Given the description of an element on the screen output the (x, y) to click on. 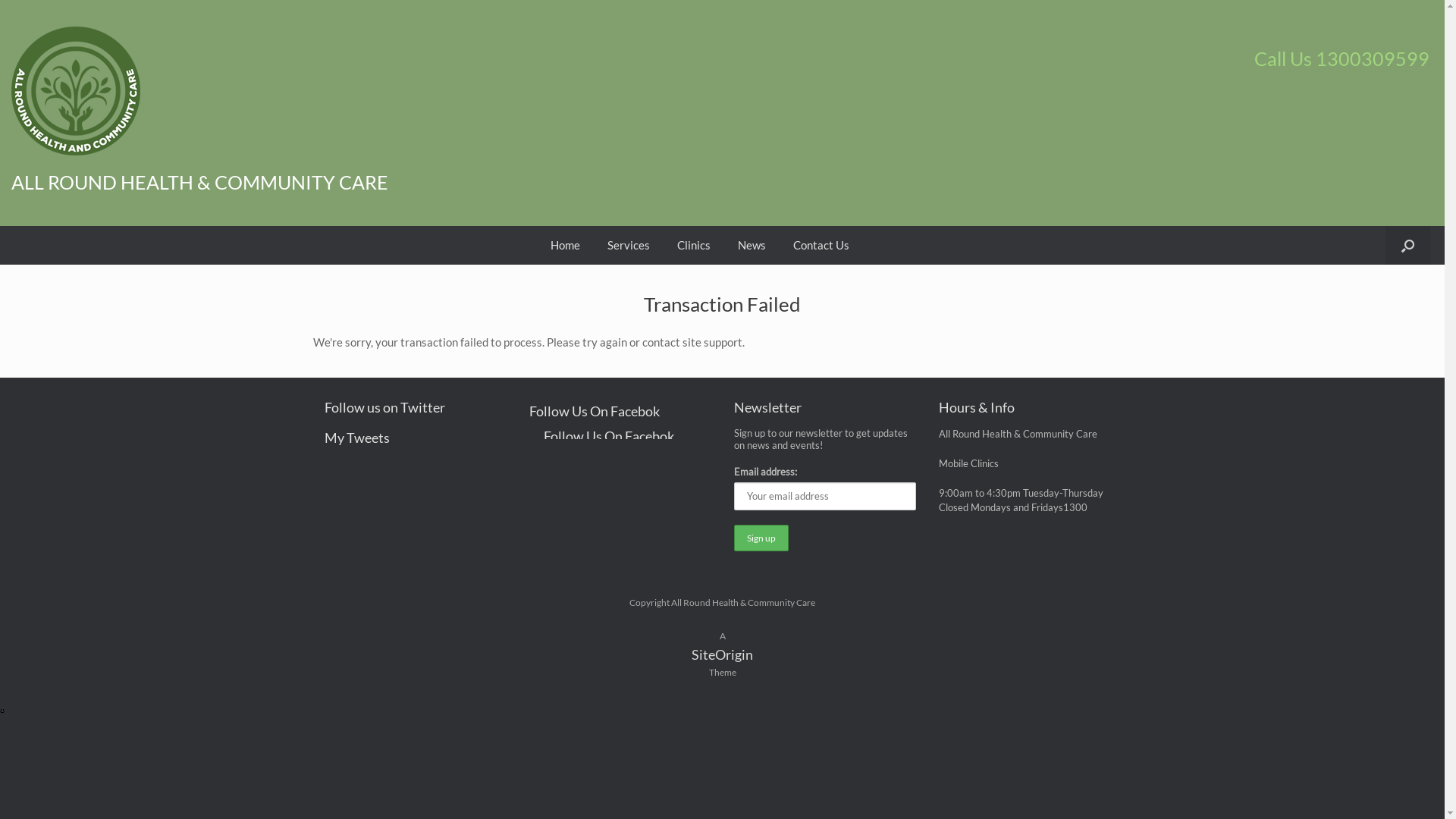
Follow Us On Facebok Element type: text (620, 410)
Services Element type: text (628, 244)
Follow Us On Facebok Element type: text (619, 435)
News Element type: text (751, 244)
Contact Us Element type: text (820, 244)
Home Element type: text (564, 244)
My Tweets Element type: text (415, 437)
ALL ROUND HEALTH & COMMUNITY CARE Element type: text (371, 182)
Call Us 1300309599 Element type: text (1078, 58)
Sign up Element type: text (761, 537)
Clinics Element type: text (693, 244)
SiteOrigin Element type: text (721, 654)
